Given the description of an element on the screen output the (x, y) to click on. 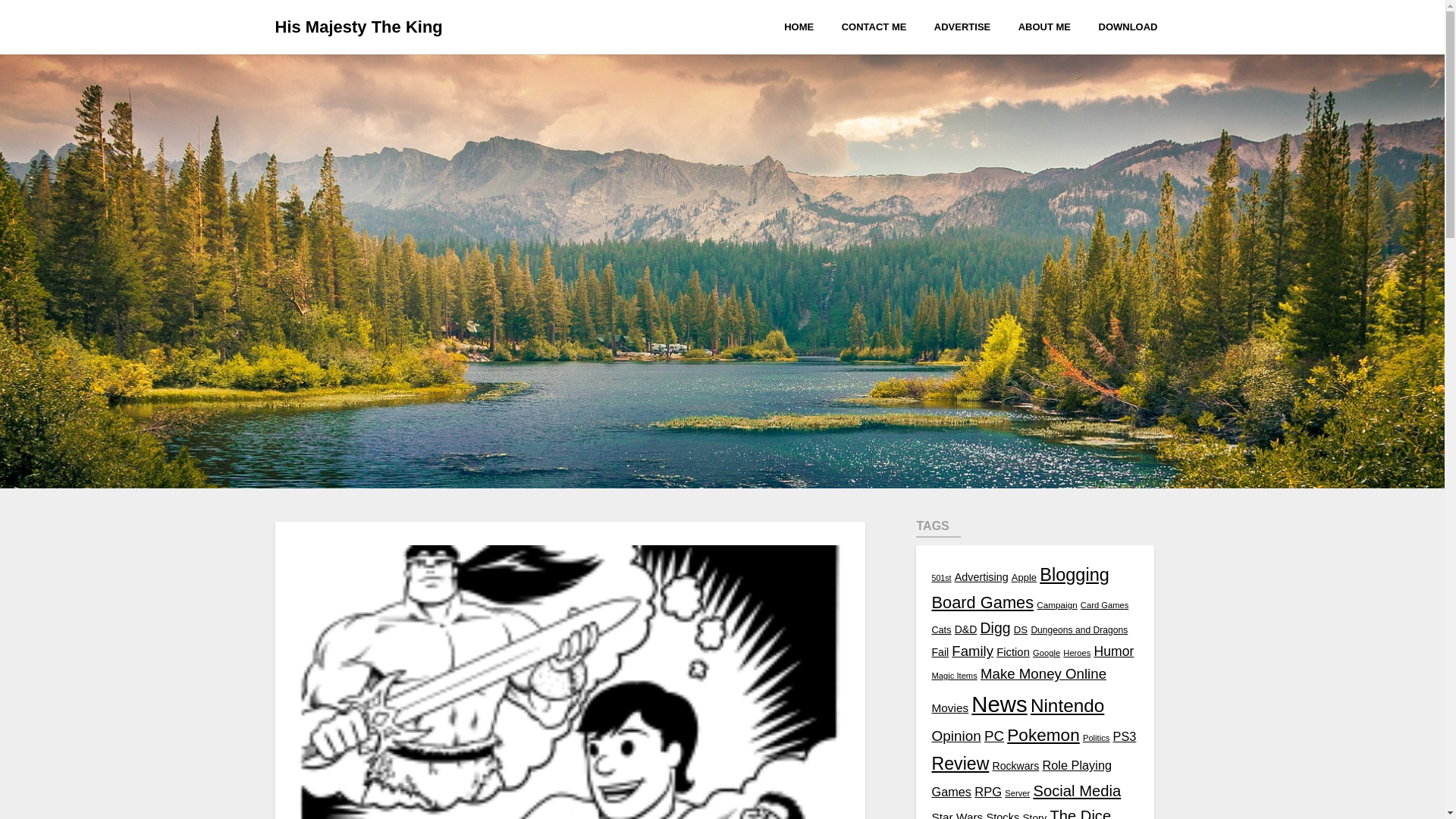
ADVERTISE (962, 26)
Cats (940, 629)
Nintendo (1066, 705)
501st (940, 577)
Google (1045, 652)
Apple (1023, 577)
Fiction (1012, 652)
Heroes (1076, 652)
Digg (994, 627)
HOME (804, 26)
DOWNLOAD (1127, 26)
Opinion (955, 735)
Board Games (982, 601)
Movies (949, 707)
Blogging (1074, 574)
